Given the description of an element on the screen output the (x, y) to click on. 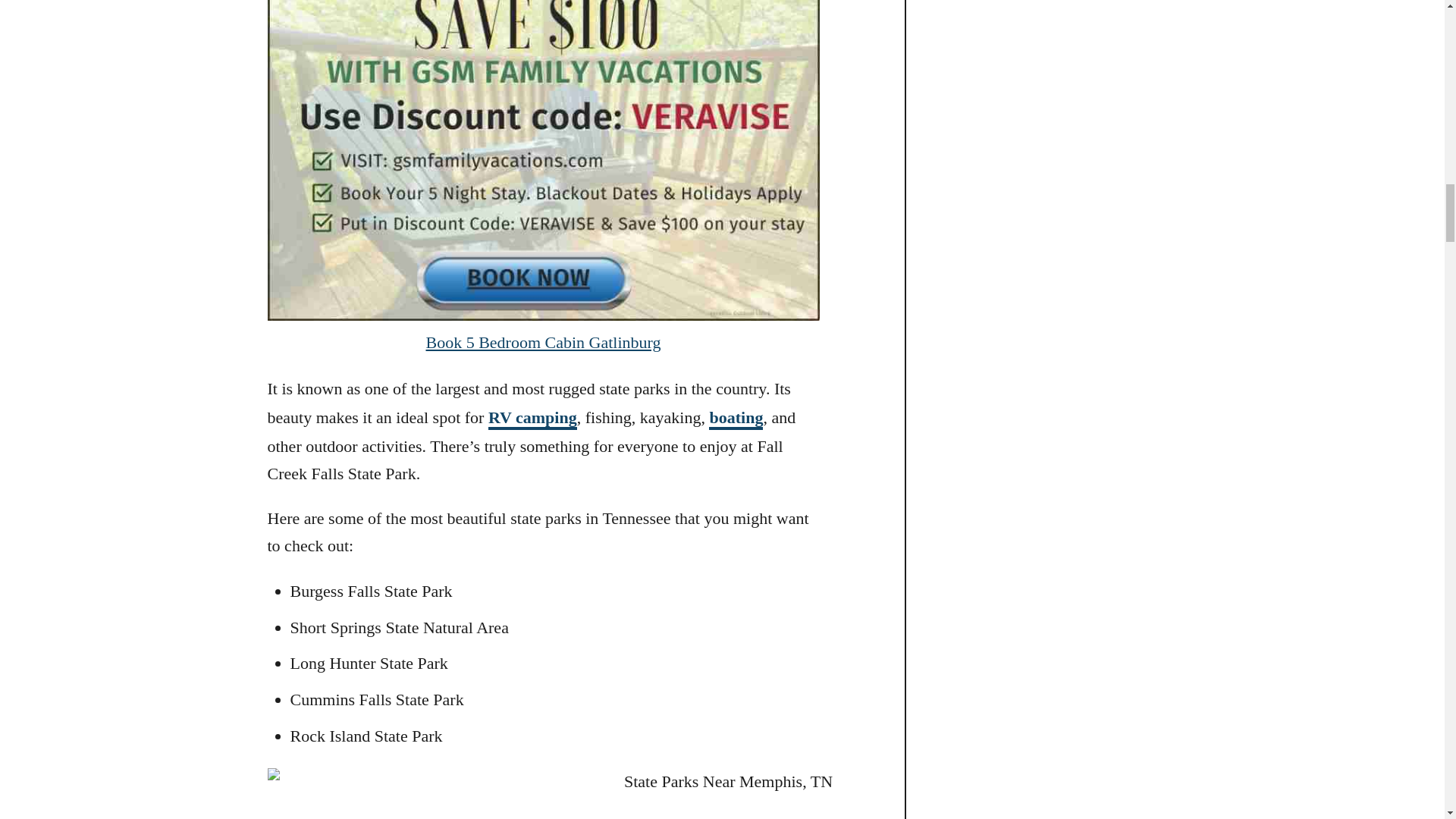
boating (735, 418)
RV camping (531, 418)
Book 5 Bedroom Cabin Gatlinburg (543, 342)
